Given the description of an element on the screen output the (x, y) to click on. 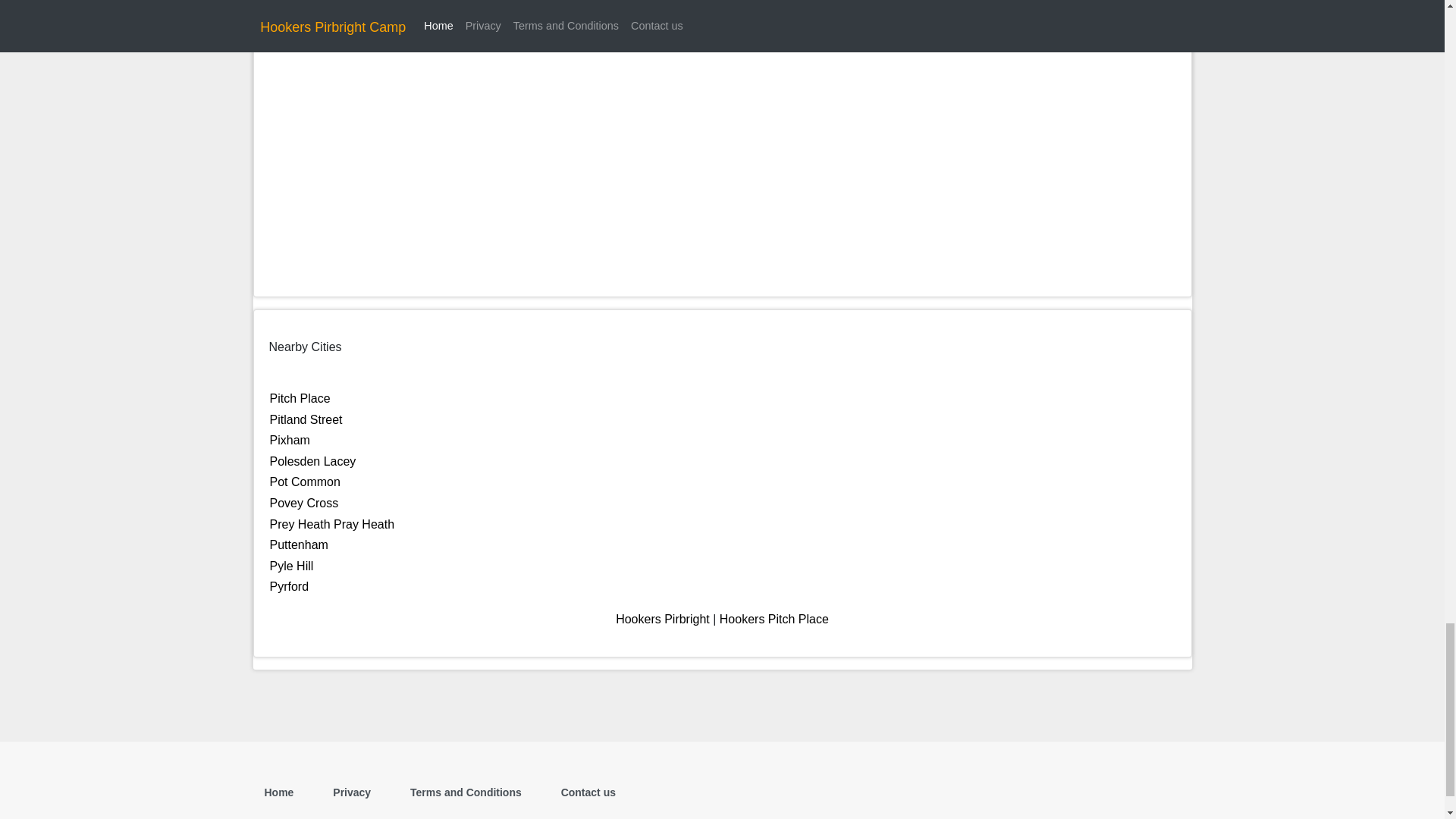
Pyrford (288, 585)
Prey Heath Pray Heath (331, 523)
Pot Common (304, 481)
Pitland Street (305, 419)
Hookers Pitch Place (773, 618)
Hookers Pirbright (662, 618)
Puttenham (299, 544)
Povey Cross (304, 502)
Pyle Hill (291, 565)
Pitch Place (299, 398)
